Given the description of an element on the screen output the (x, y) to click on. 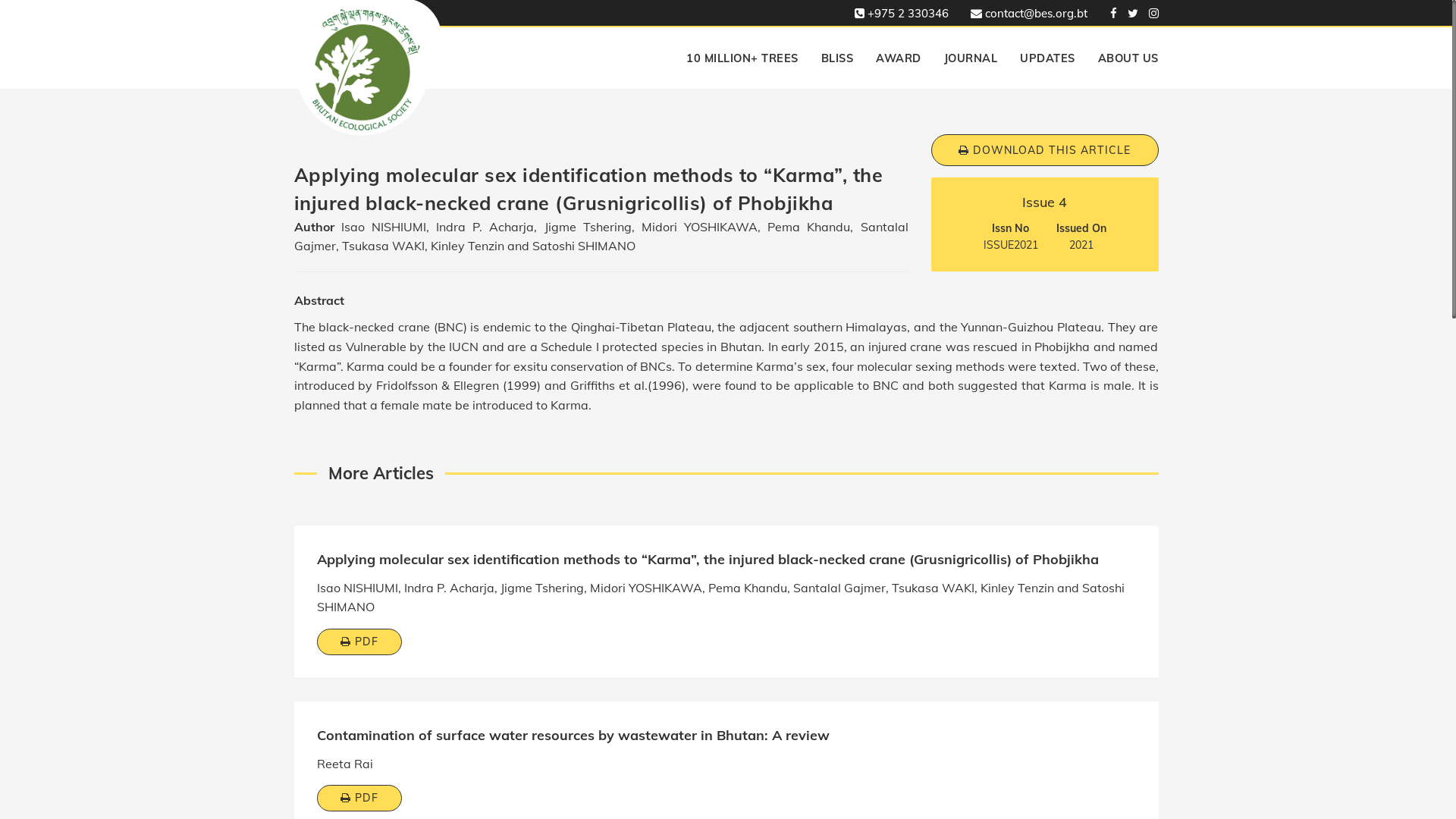
JOURNAL Element type: text (970, 58)
BLISS Element type: text (837, 58)
AWARD Element type: text (898, 58)
+975 2 330346 Element type: text (896, 13)
ABOUT US Element type: text (1121, 58)
Issue 4 Element type: text (1044, 201)
10 MILLION+ TREES Element type: text (741, 58)
PDF Element type: text (358, 797)
UPDATES Element type: text (1047, 58)
contact@bes.org.bt Element type: text (1025, 13)
DOWNLOAD THIS ARTICLE Element type: text (1044, 150)
PDF Element type: text (358, 641)
